Given the description of an element on the screen output the (x, y) to click on. 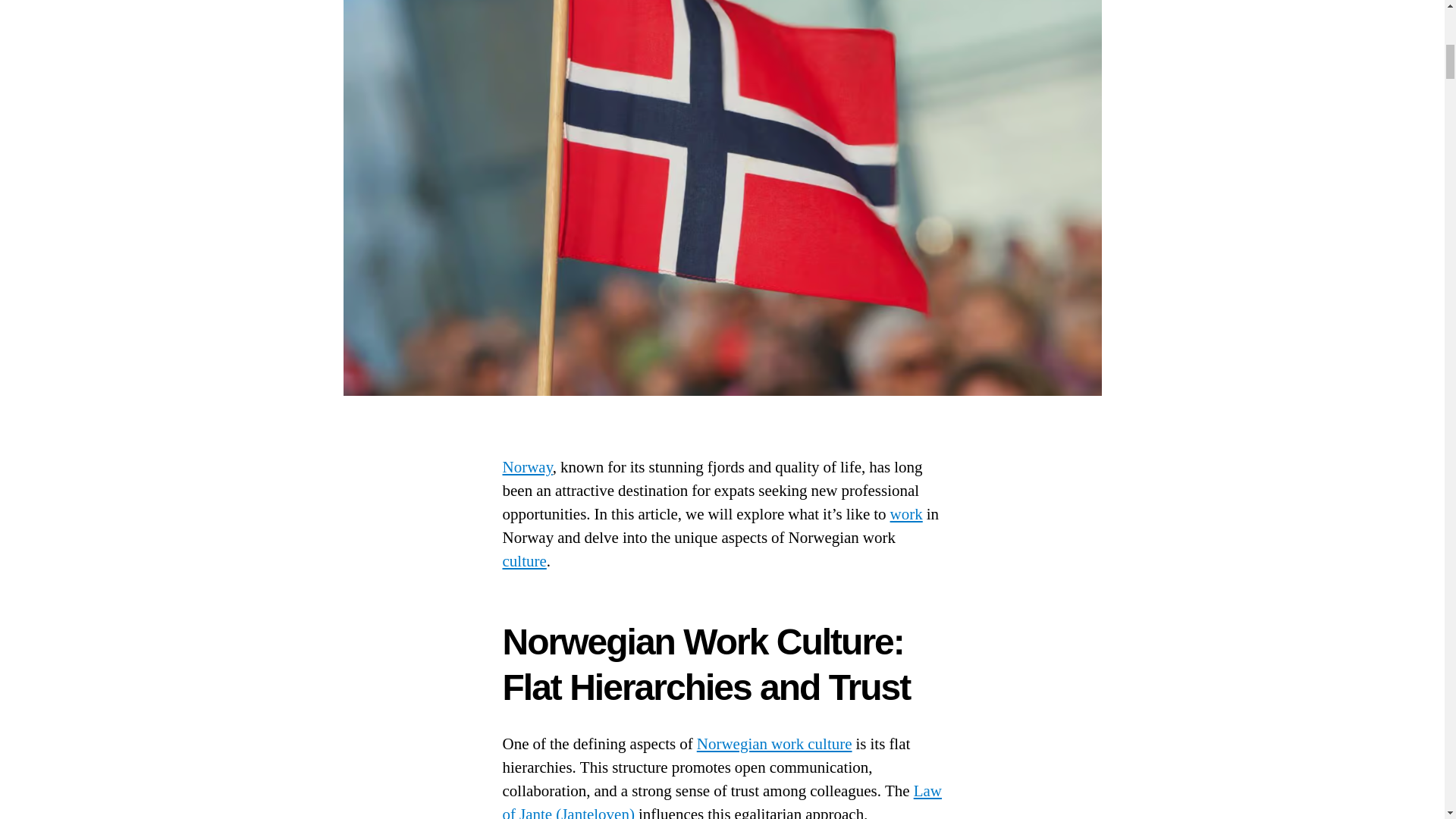
work in norway (906, 514)
Norway and Norwegian Culture Book (526, 467)
norwegian culture book (524, 561)
